Given the description of an element on the screen output the (x, y) to click on. 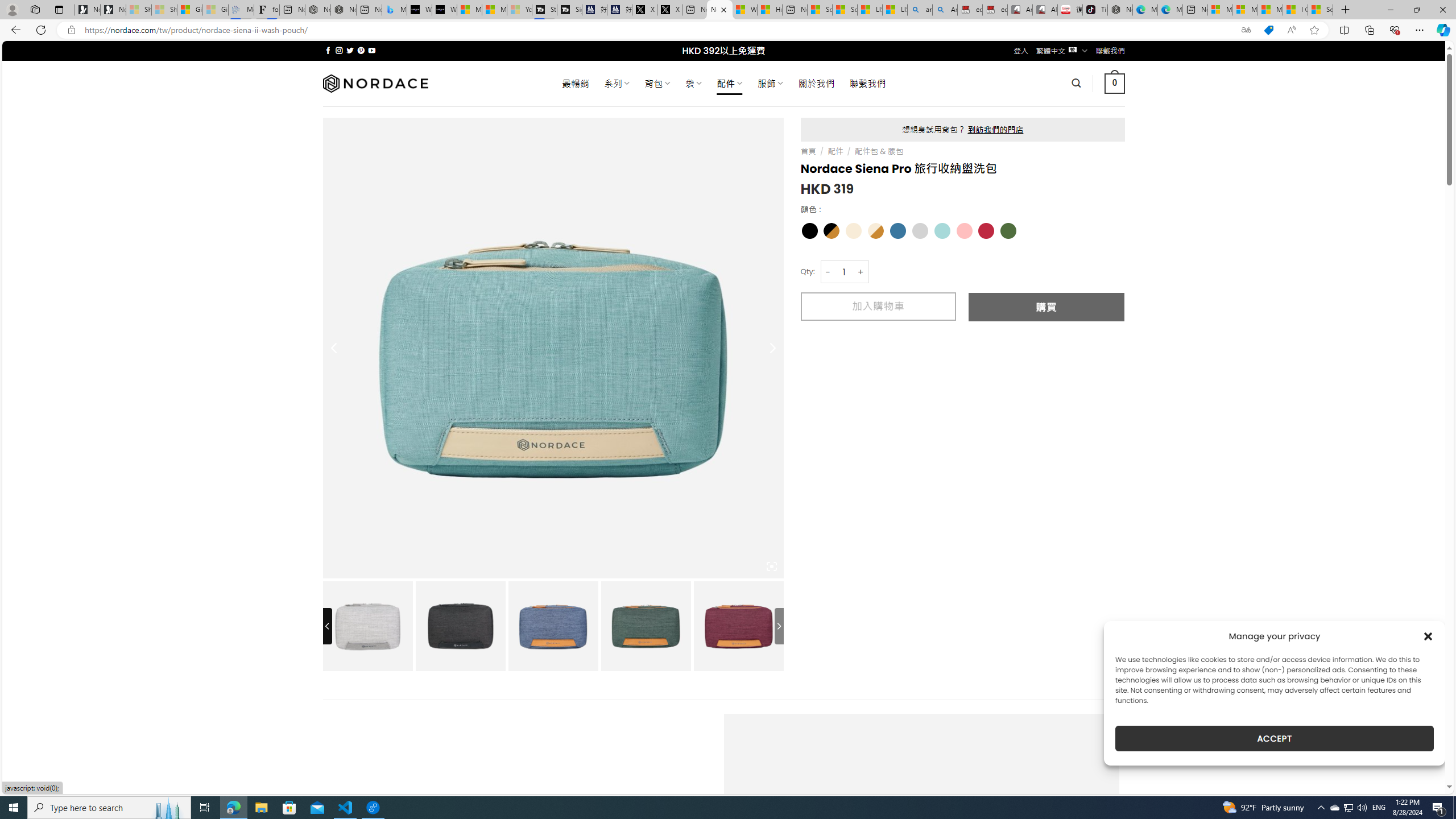
  0   (1115, 83)
Show translate options (1245, 29)
What's the best AI voice generator? - voice.ai (443, 9)
Microsoft Bing Travel - Shangri-La Hotel Bangkok (394, 9)
Newsletter Sign Up (113, 9)
Microsoft account | Privacy (1244, 9)
